Given the description of an element on the screen output the (x, y) to click on. 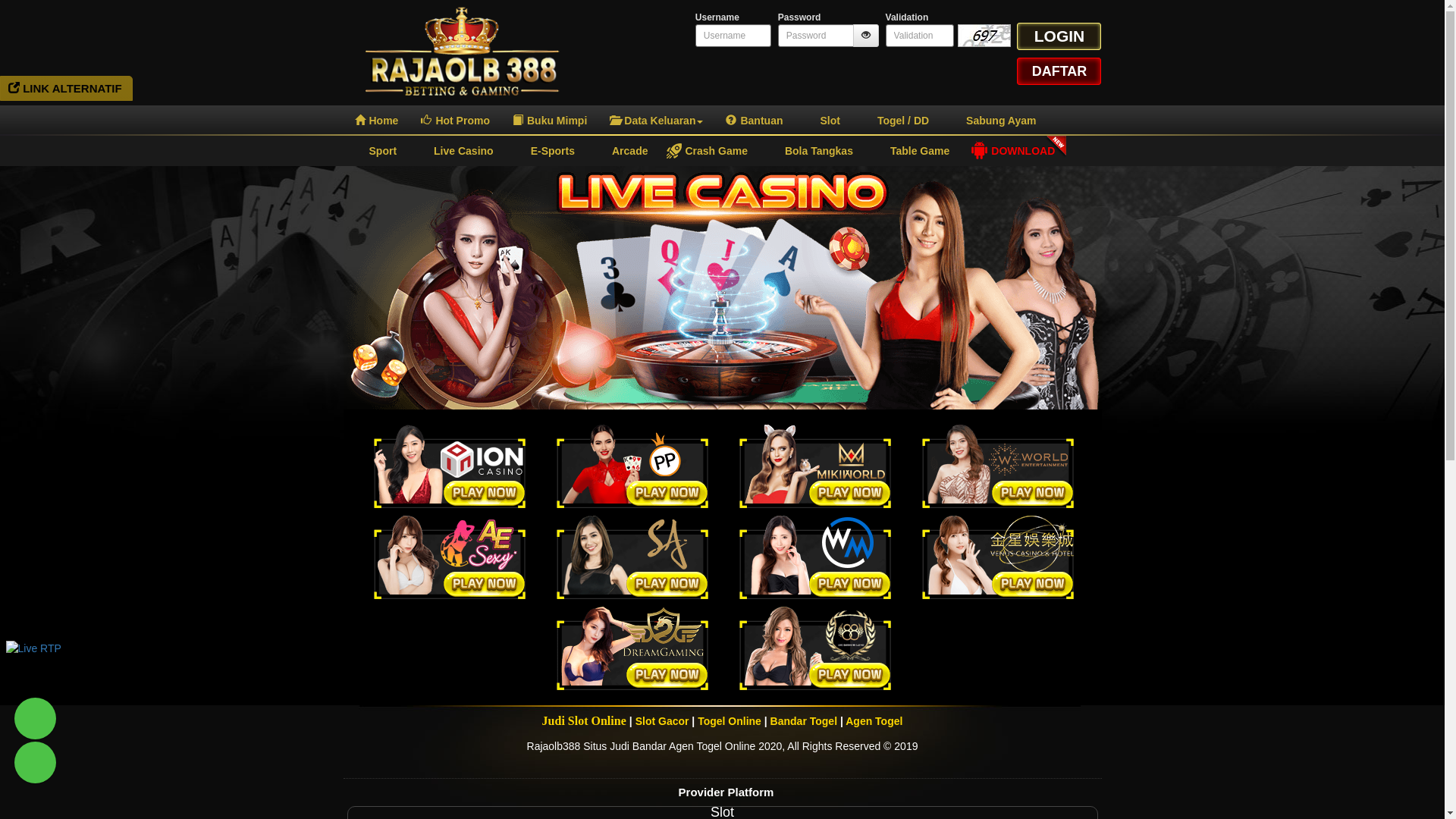
DOWNLOAD Element type: text (1013, 150)
Hot Promo Element type: text (455, 120)
SA Element type: hover (632, 557)
WE Element type: hover (997, 466)
AE Sexy Element type: hover (449, 557)
DreamGaming Element type: hover (632, 648)
LG88 Element type: hover (815, 648)
Arcade Element type: text (622, 150)
LOGIN Element type: text (1058, 36)
Data Keluaran Element type: text (656, 120)
Miki Element type: hover (815, 466)
Buku Mimpi Element type: text (549, 120)
Unduh APK RajaOlb388 Element type: hover (44, 727)
Whatsapp RajaOlb388 Element type: hover (44, 771)
Crash Game Element type: text (708, 150)
Trillion Element type: hover (449, 466)
Bandar Togel Element type: text (803, 721)
Bantuan Element type: text (753, 120)
PragmaticPlay Element type: hover (632, 466)
DAFTAR Element type: text (1058, 70)
Sport Element type: text (374, 150)
number Element type: hover (919, 35)
Slot Gacor Element type: text (662, 721)
Live Casino Element type: text (456, 150)
WM Element type: hover (815, 557)
E-Sports Element type: text (545, 150)
Sabung Ayam Element type: text (993, 120)
Bola Tangkas Element type: text (811, 150)
Venus Element type: hover (997, 557)
Togel / DD Element type: text (895, 120)
Judi Slot Online Element type: text (584, 720)
Togel Online Element type: text (729, 721)
Agen Togel Element type: text (873, 721)
Live Casino Element type: hover (721, 290)
Slot Element type: text (821, 120)
Table Game Element type: text (912, 150)
Home Element type: text (375, 120)
